Given the description of an element on the screen output the (x, y) to click on. 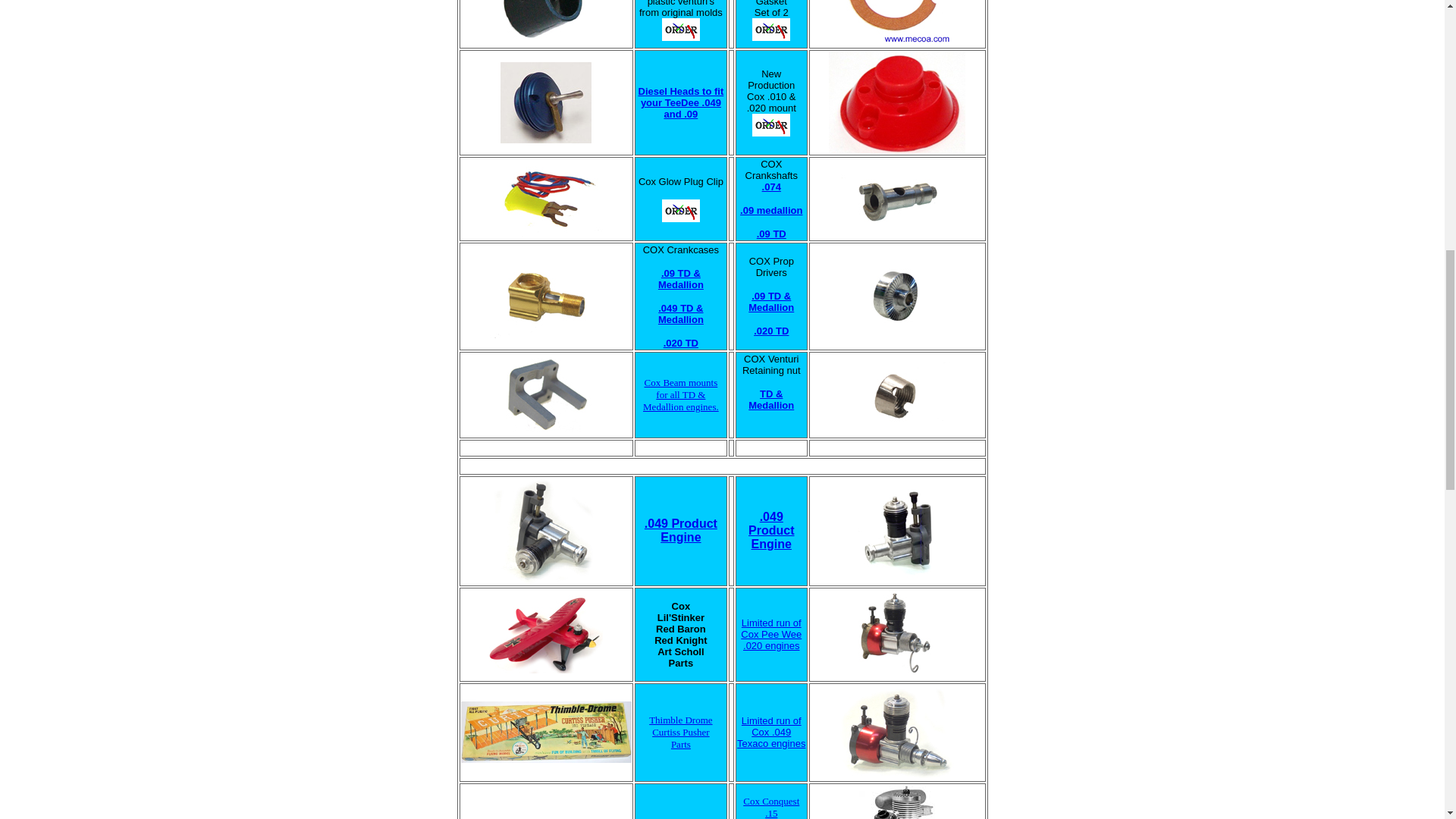
Limited run of Cox Pee Wee .020 engines (771, 634)
.09 medallion (770, 210)
.09 TD (681, 529)
.020 TD (771, 233)
.074 (680, 342)
Diesel Heads to fit your TeeDee .049 and .09 (770, 186)
.020 TD (681, 102)
